Given the description of an element on the screen output the (x, y) to click on. 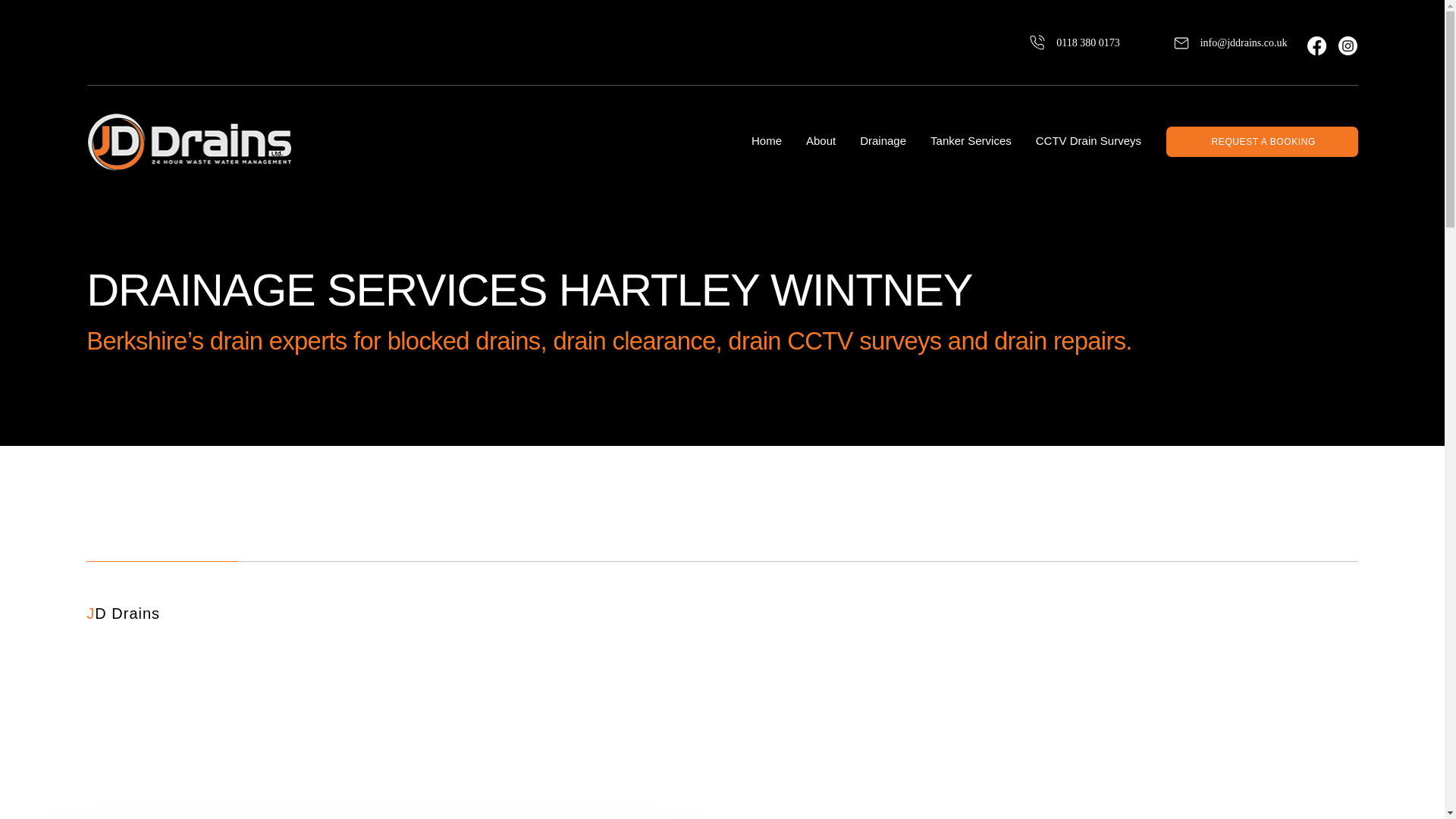
Tanker Services (970, 140)
CCTV Drain Surveys (1088, 140)
Drainage (882, 140)
REQUEST A BOOKING (1262, 141)
0118 380 0173 (1055, 42)
About (820, 140)
Home (766, 140)
